Given the description of an element on the screen output the (x, y) to click on. 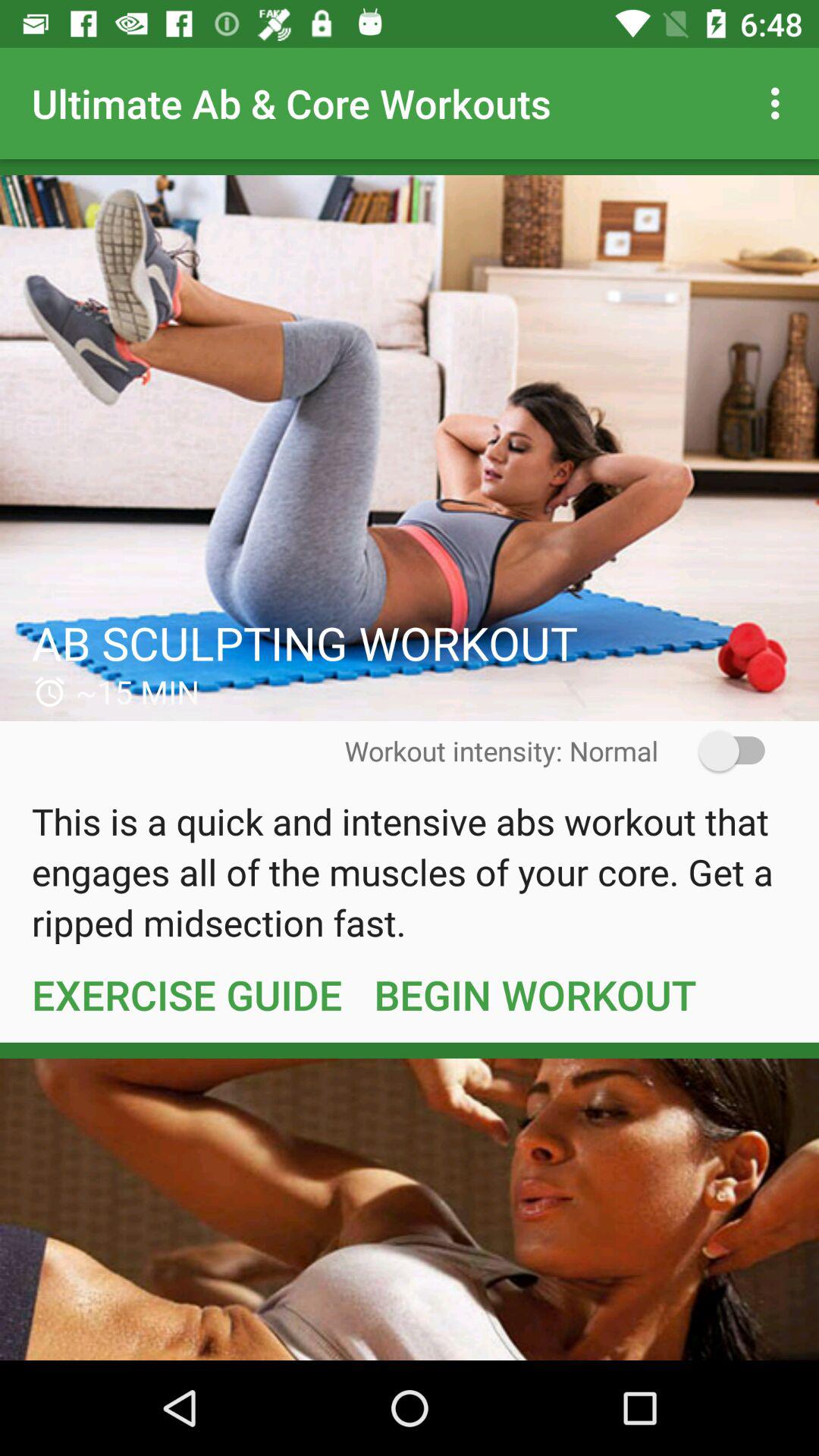
tap icon to the left of the begin workout icon (186, 994)
